Given the description of an element on the screen output the (x, y) to click on. 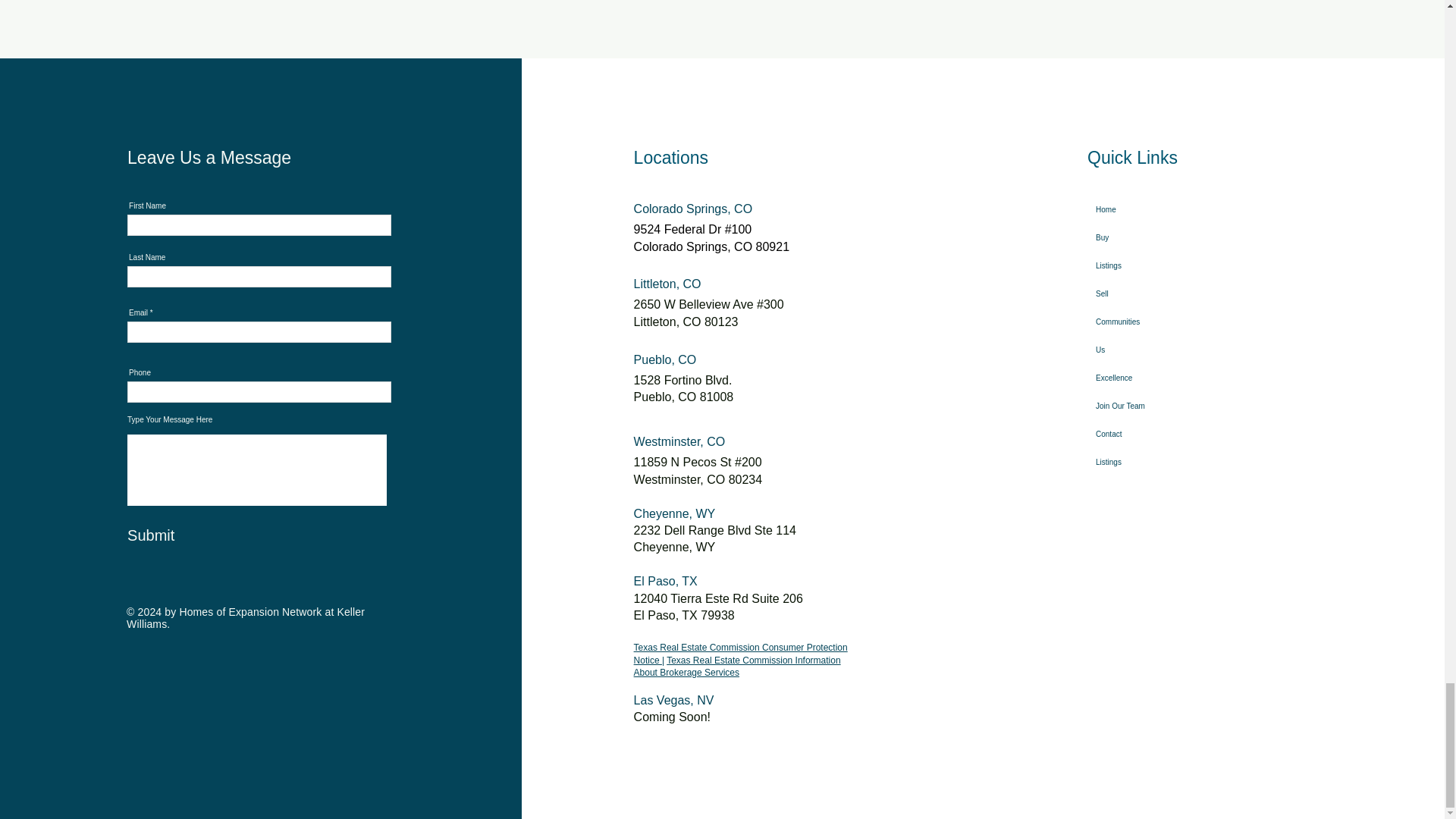
Us (1138, 349)
Texas Real Estate Commission Consumer Protection Notice  (740, 653)
Home (1138, 209)
Listings (1138, 265)
Listings (1138, 461)
Communities (1138, 321)
Buy (1138, 237)
Sell (1138, 293)
Join Our Team (1138, 406)
Contact (1138, 433)
Submit (203, 534)
Excellence (1138, 377)
